Given the description of an element on the screen output the (x, y) to click on. 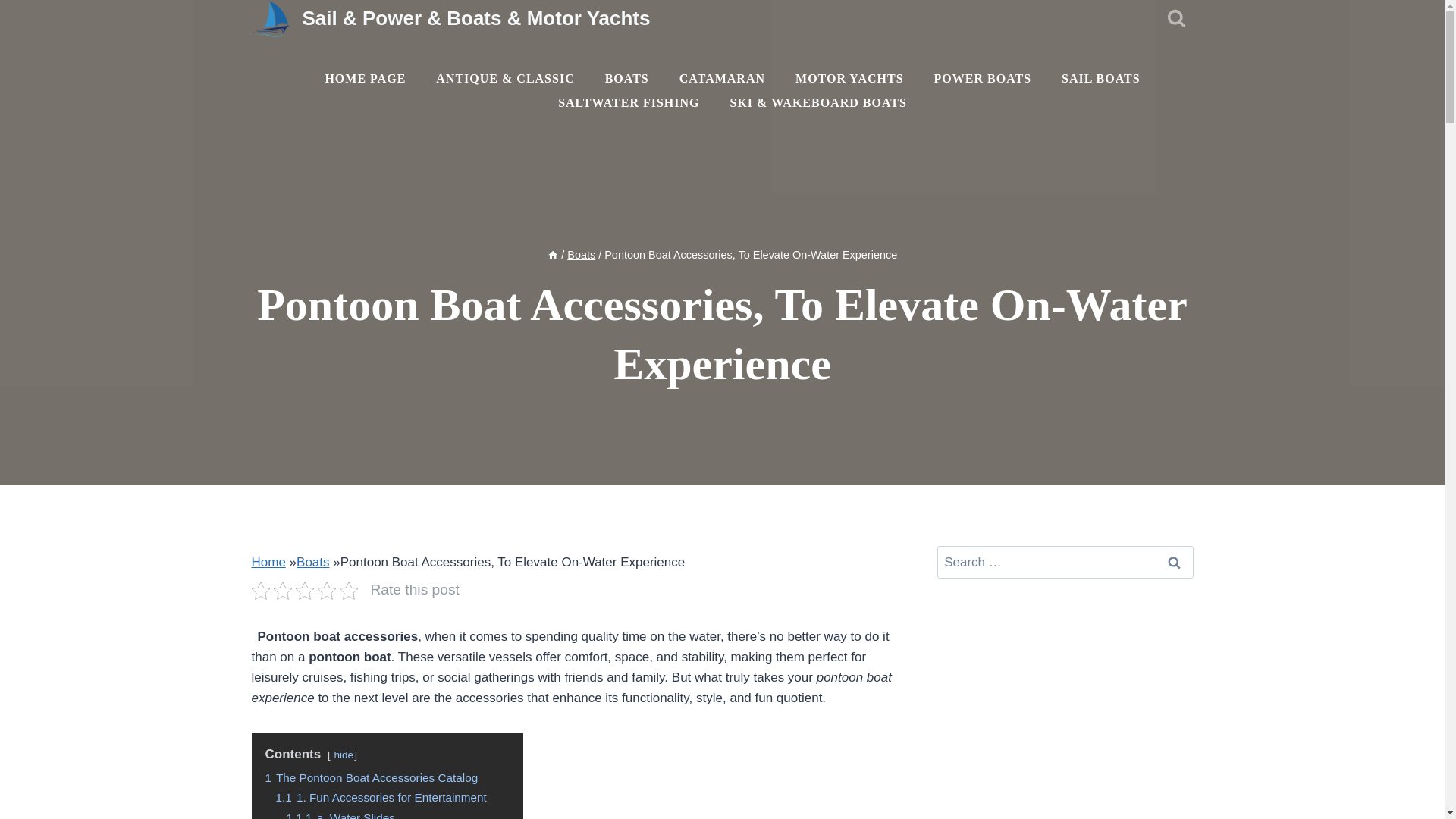
CATAMARAN (721, 78)
HOME PAGE (364, 78)
hide (343, 754)
SAIL BOATS (1101, 78)
POWER BOATS (982, 78)
1.1 1. Fun Accessories for Entertainment (381, 797)
Home (268, 562)
1.1.1 a. Water Slides (340, 815)
